Given the description of an element on the screen output the (x, y) to click on. 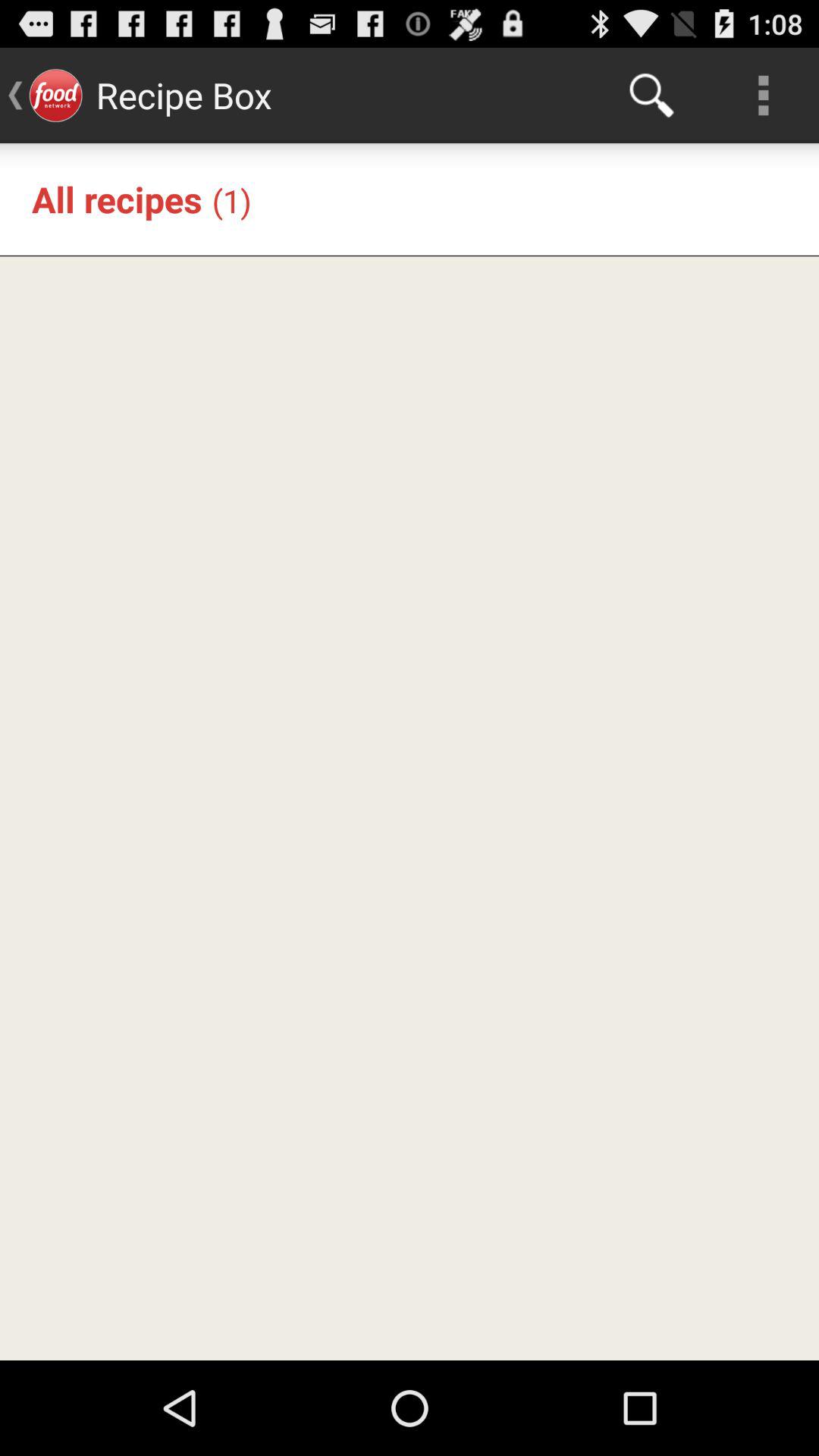
turn on (1) item (231, 200)
